Given the description of an element on the screen output the (x, y) to click on. 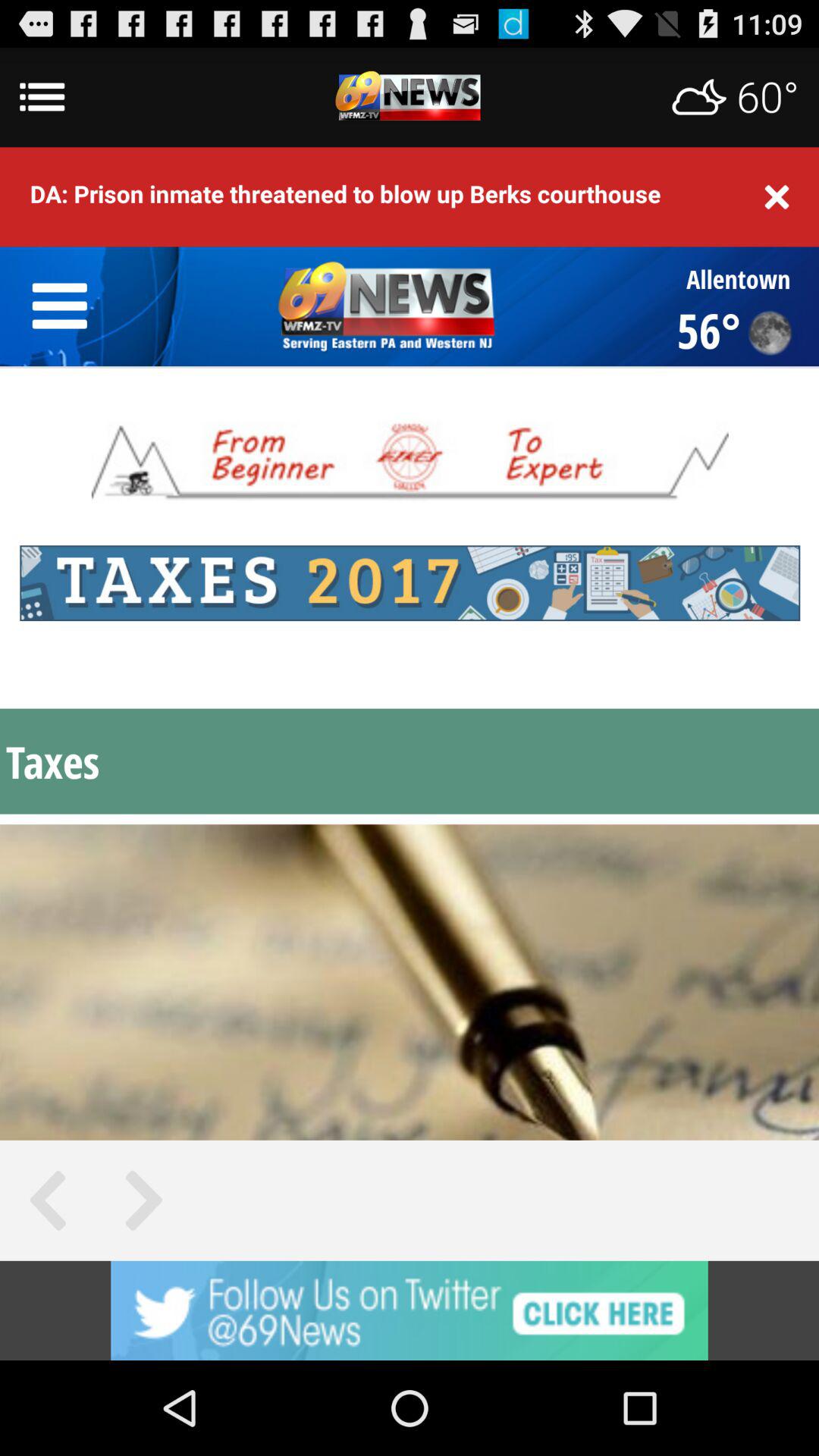
go to advertisement (409, 1310)
